Given the description of an element on the screen output the (x, y) to click on. 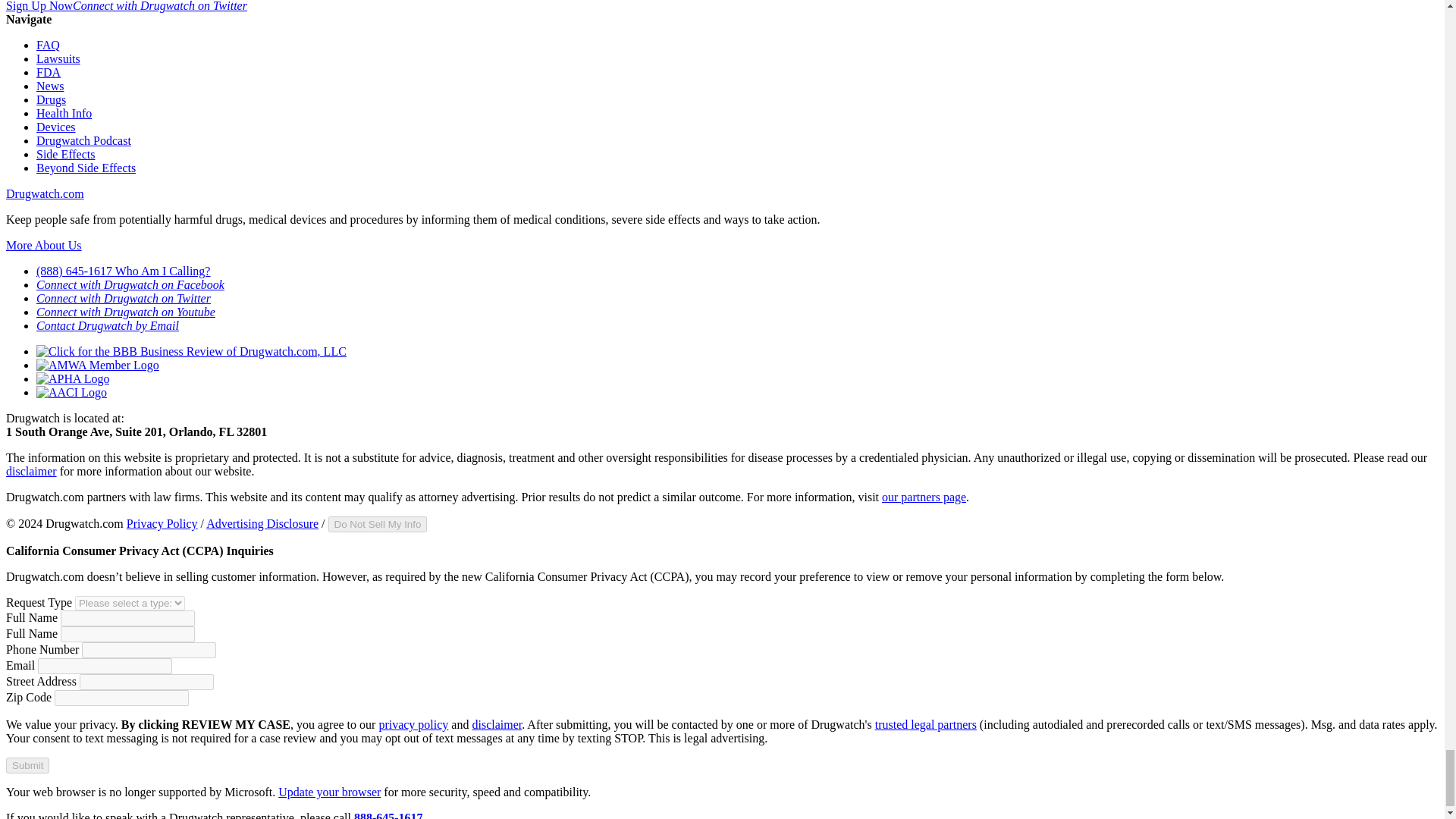
Who Am I Calling? (163, 270)
